Given the description of an element on the screen output the (x, y) to click on. 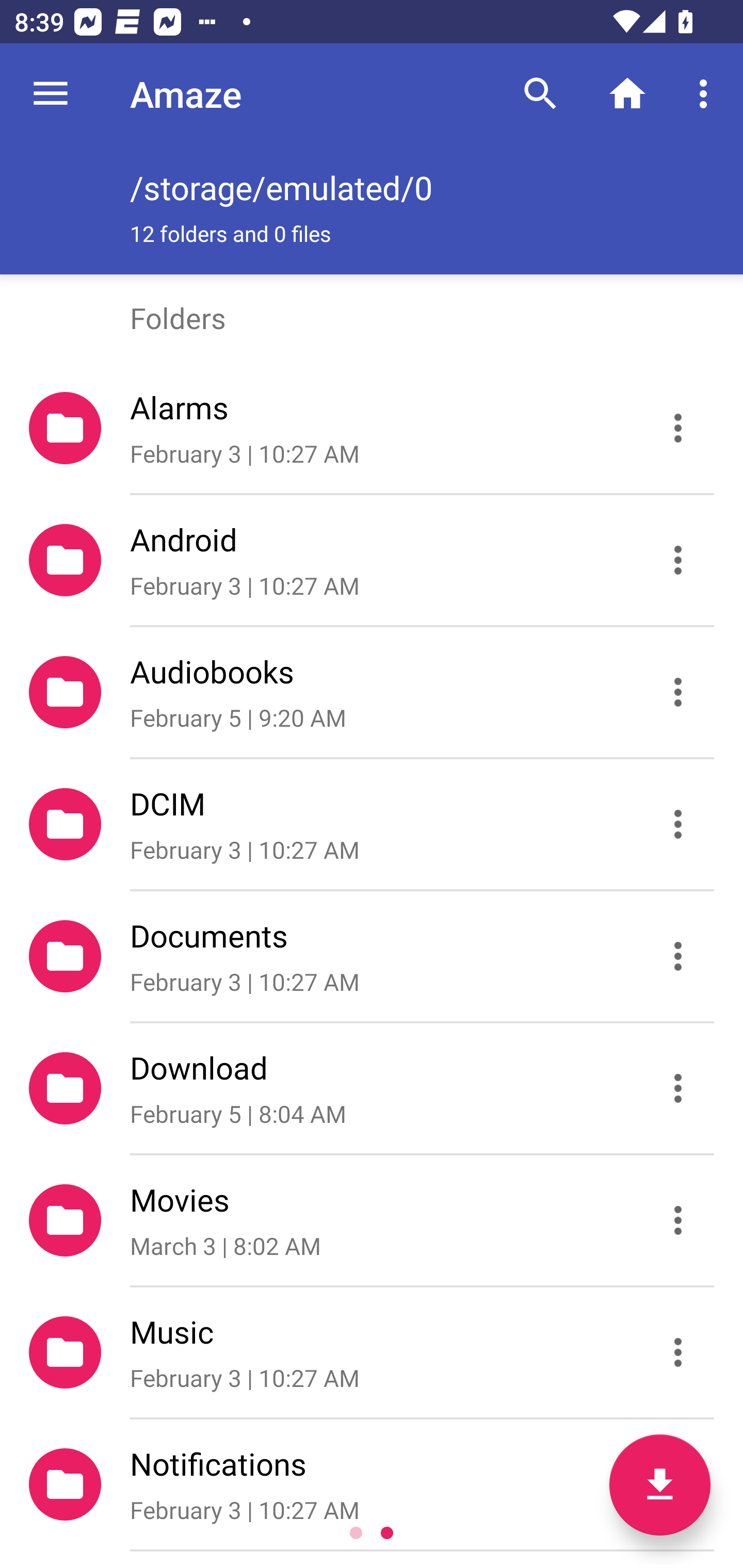
Navigate up (50, 93)
Search (540, 93)
Home (626, 93)
More options (706, 93)
Alarms February 3 | 10:27 AM (371, 427)
Android February 3 | 10:27 AM (371, 560)
Audiobooks February 5 | 9:20 AM (371, 692)
DCIM February 3 | 10:27 AM (371, 823)
Documents February 3 | 10:27 AM (371, 955)
Download February 5 | 8:04 AM (371, 1088)
Movies March 3 | 8:02 AM (371, 1220)
Music February 3 | 10:27 AM (371, 1352)
Notifications February 3 | 10:27 AM (371, 1484)
